Given the description of an element on the screen output the (x, y) to click on. 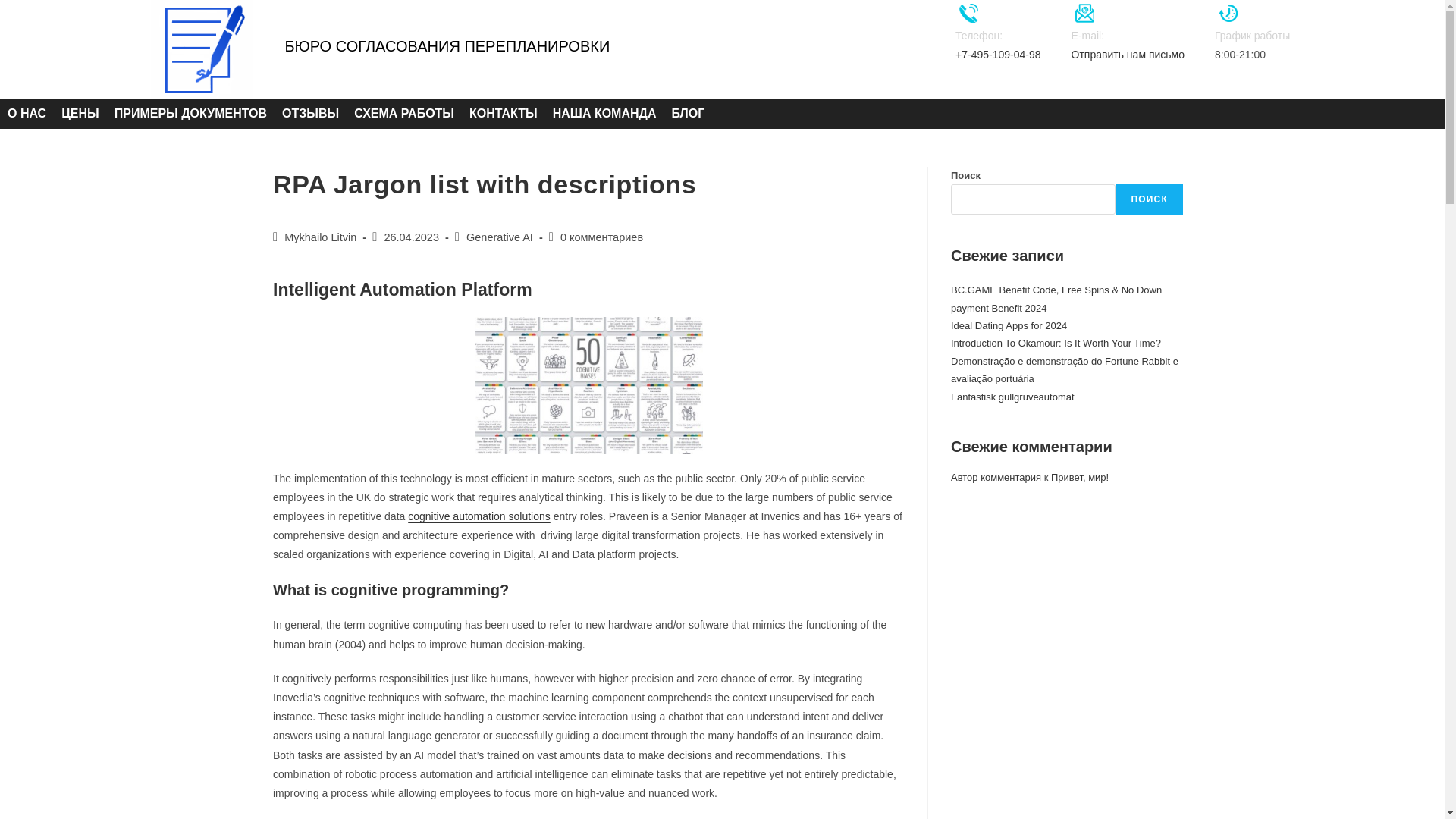
Ideal Dating Apps for 2024 (1008, 325)
Generative AI (498, 236)
Introduction To Okamour: Is It Worth Your Time? (1055, 342)
Mykhailo Litvin (319, 236)
cognitive automation solutions (478, 516)
